Given the description of an element on the screen output the (x, y) to click on. 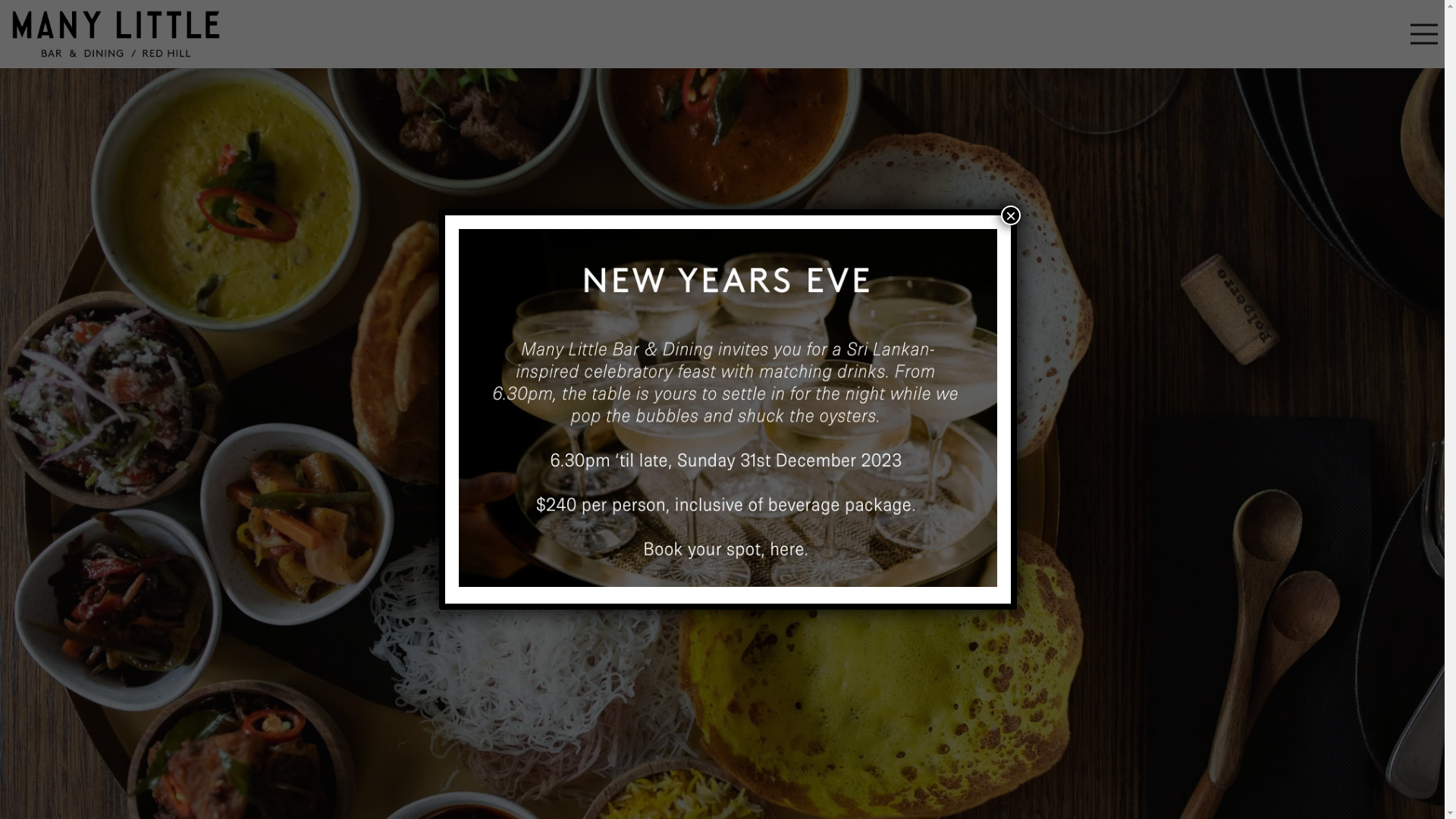
DINING Element type: text (722, 406)
nye popup Element type: hover (727, 407)
EVENTS Element type: text (722, 452)
BAR Element type: text (722, 360)
LARDER Element type: text (722, 542)
WINE STORE Element type: text (722, 498)
